Given the description of an element on the screen output the (x, y) to click on. 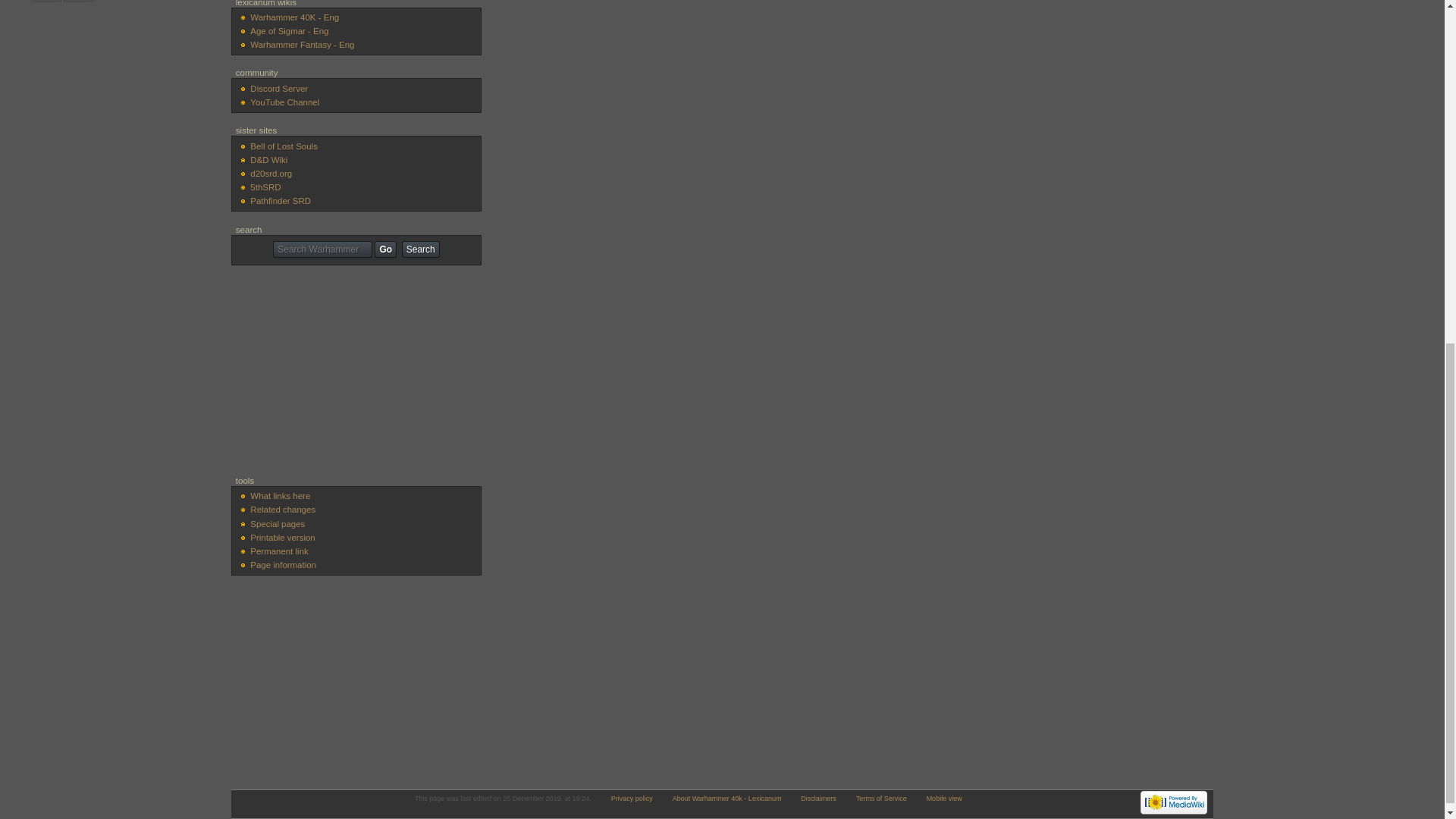
Go (385, 248)
Go (385, 248)
Search (420, 248)
Search (420, 248)
